Given the description of an element on the screen output the (x, y) to click on. 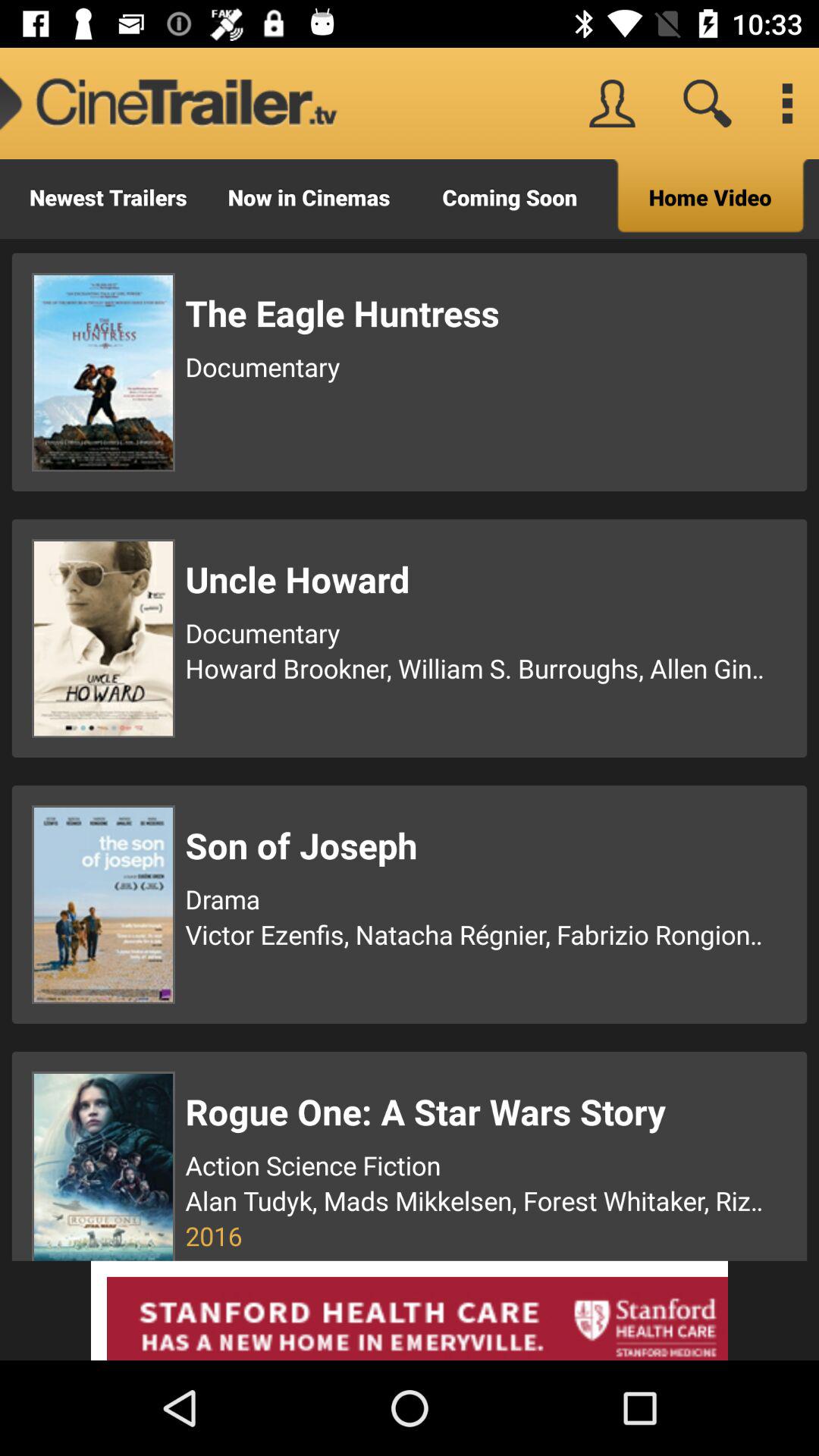
tap icon to the left of now in cinemas icon (107, 198)
